Given the description of an element on the screen output the (x, y) to click on. 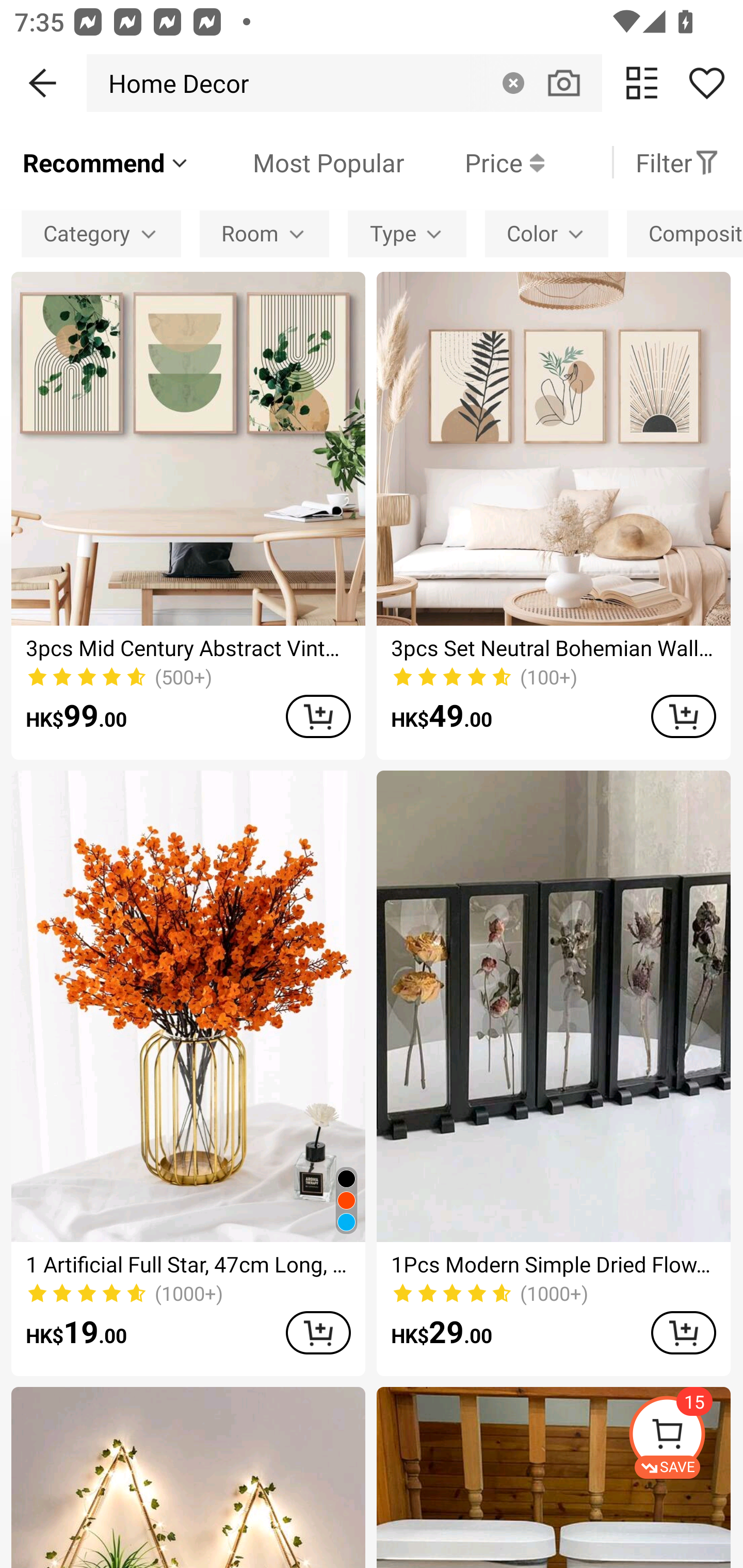
Home Decor Clear (343, 82)
Home Decor (173, 82)
Clear (513, 82)
change view (641, 82)
Share (706, 82)
Recommend (106, 162)
Most Popular (297, 162)
Price (474, 162)
Filter (677, 162)
Category (101, 233)
Room (264, 233)
Type (406, 233)
Color (546, 233)
Composition (685, 233)
ADD TO CART (318, 716)
ADD TO CART (683, 716)
ADD TO CART (318, 1332)
ADD TO CART (683, 1332)
SAVE (685, 1436)
